Given the description of an element on the screen output the (x, y) to click on. 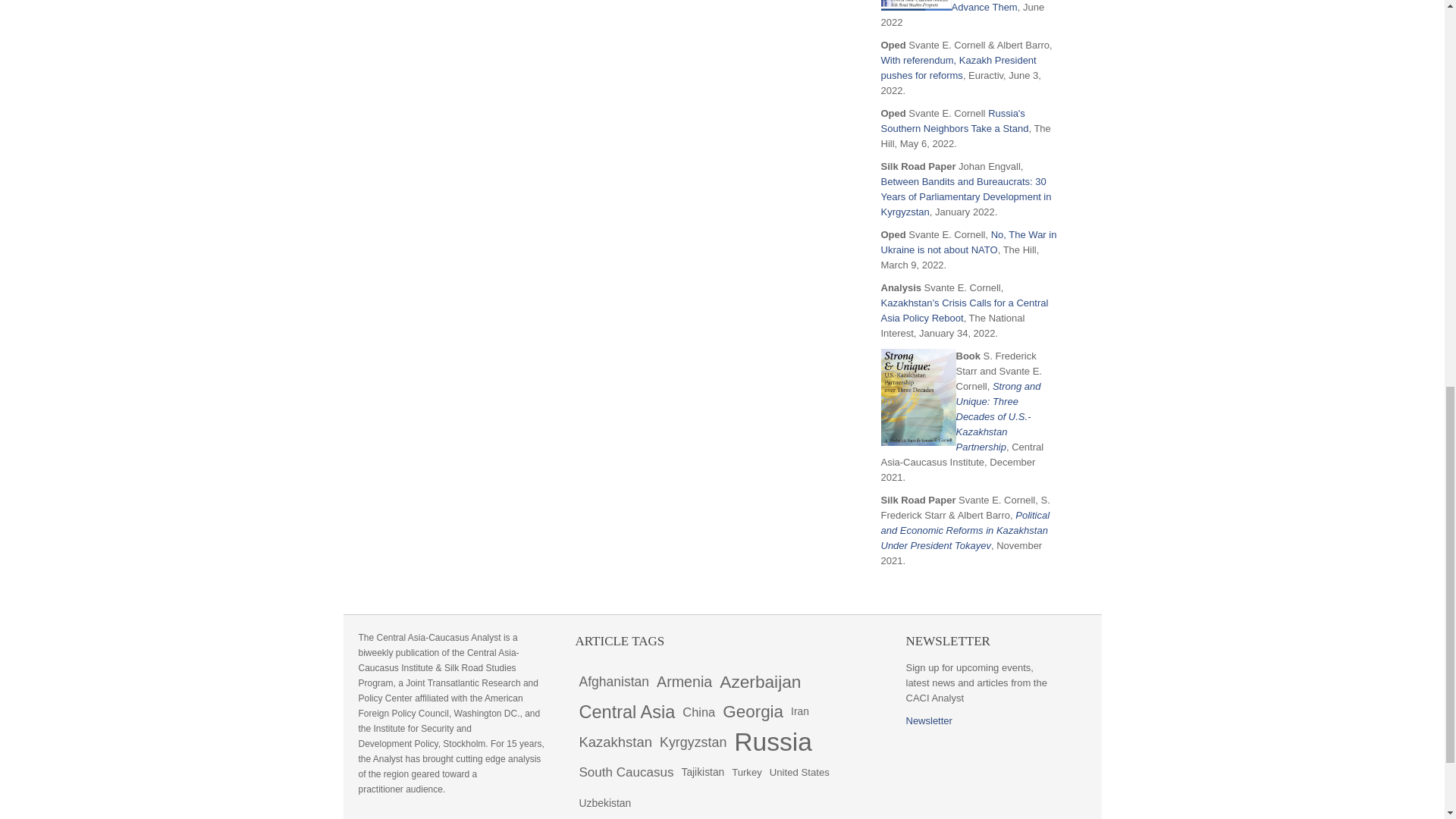
303 items tagged with Russia (772, 742)
175 items tagged with Azerbaijan (760, 681)
102 items tagged with China (698, 711)
72 items tagged with Uzbekistan (604, 802)
184 items tagged with Central Asia (626, 711)
125 items tagged with Kazakhstan (615, 742)
With referendum, Kazakh President pushes for reforms (958, 67)
139 items tagged with Armenia (684, 681)
109 items tagged with South Caucasus (626, 772)
64 items tagged with United States (798, 772)
Russia's Southern Neighbors Take a Stand (954, 120)
171 items tagged with Georgia (753, 711)
